Given the description of an element on the screen output the (x, y) to click on. 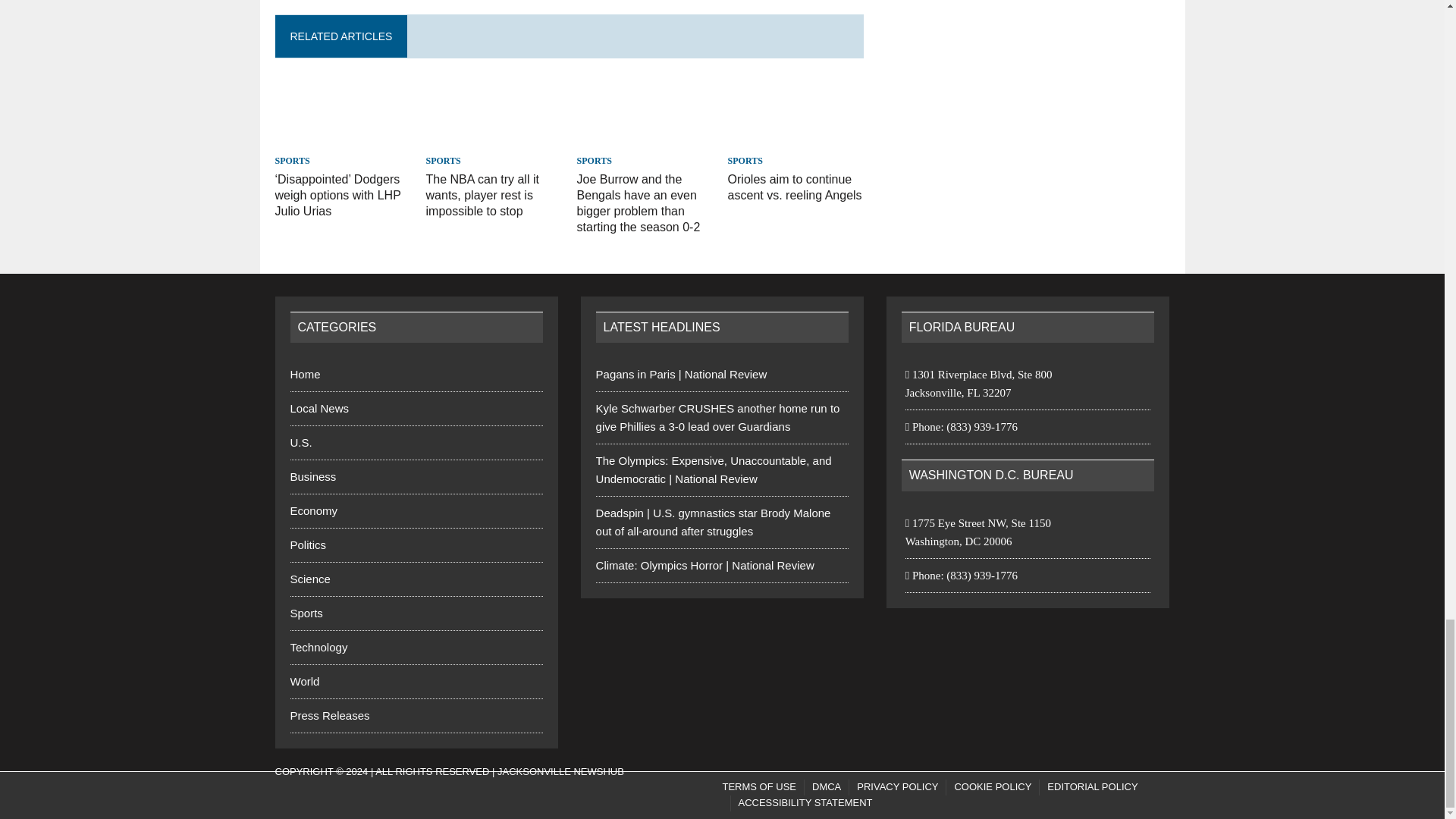
Orioles aim to continue ascent vs. reeling Angels (796, 140)
Orioles aim to continue ascent vs. reeling Angels (794, 186)
